Given the description of an element on the screen output the (x, y) to click on. 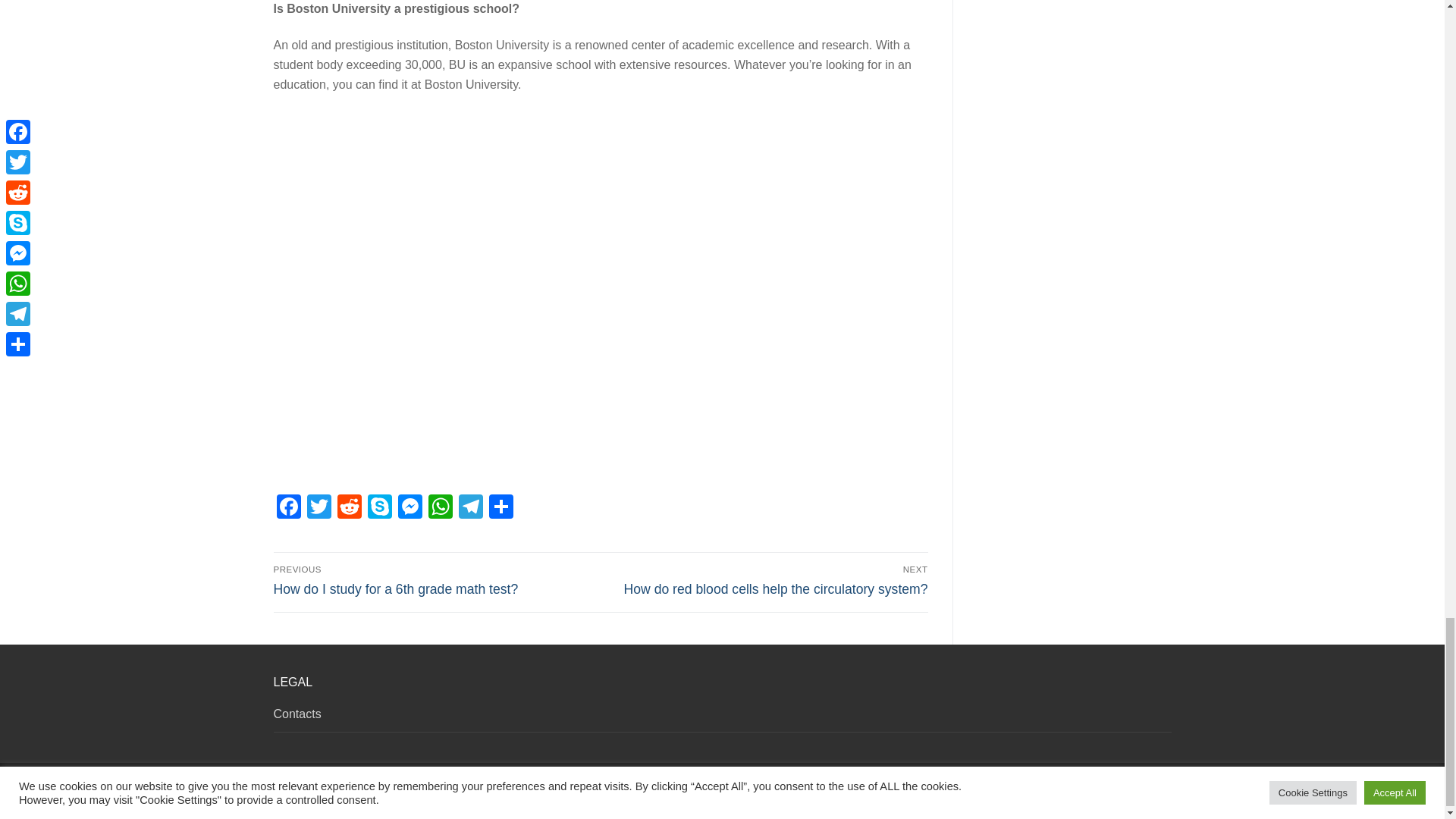
Twitter (317, 508)
Skype (379, 508)
Twitter (317, 508)
WhatsApp (439, 508)
Messenger (409, 508)
Messenger (409, 508)
Skype (379, 508)
Facebook (287, 508)
WhatsApp (439, 508)
Facebook (287, 508)
Reddit (348, 508)
Telegram (469, 508)
Telegram (469, 508)
Reddit (348, 508)
